Given the description of an element on the screen output the (x, y) to click on. 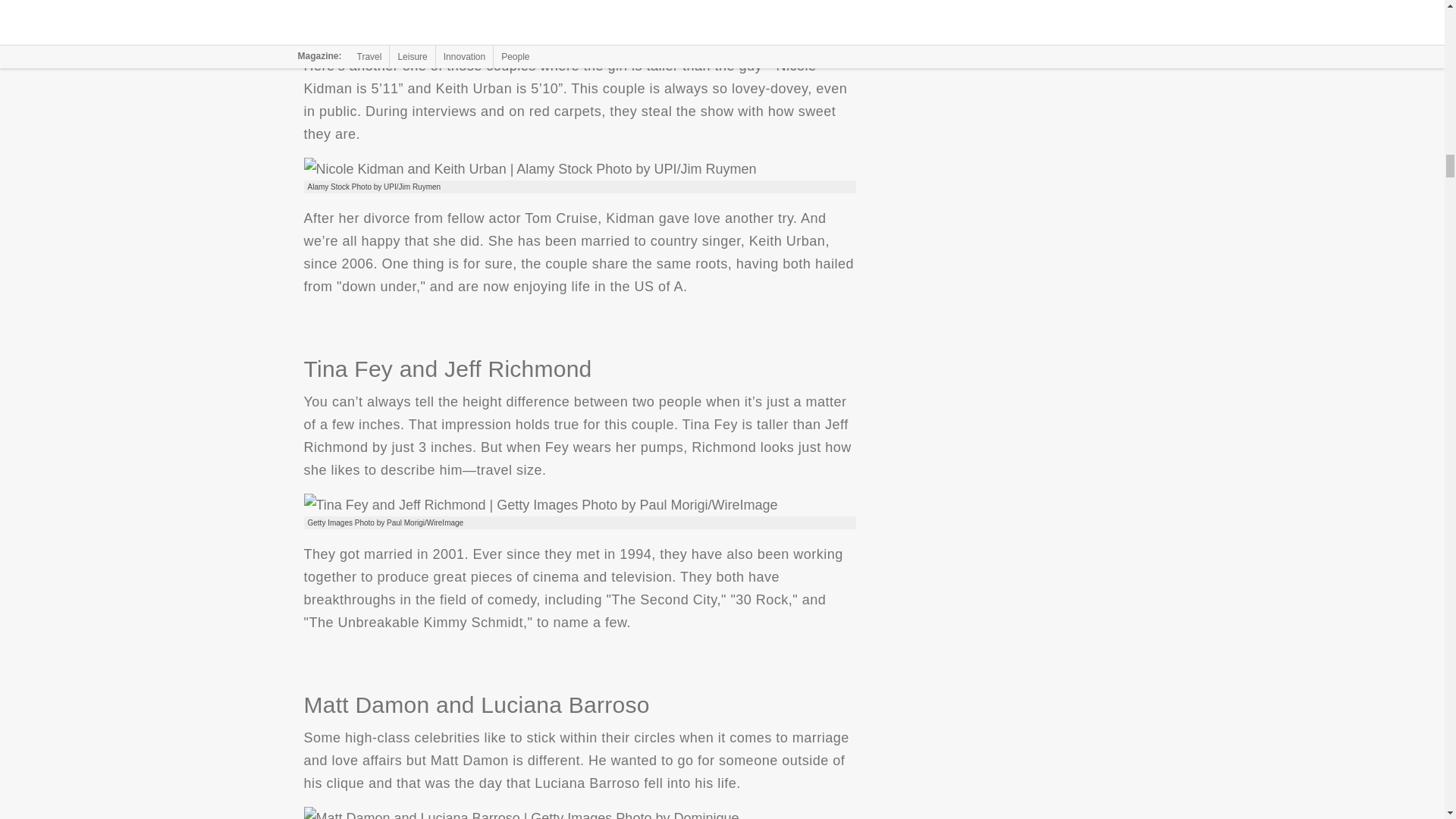
Tina Fey and Jeff Richmond (539, 504)
Nicole Kidman and Keith Urban (528, 169)
Matt Damon and Luciana Barroso (579, 812)
